Given the description of an element on the screen output the (x, y) to click on. 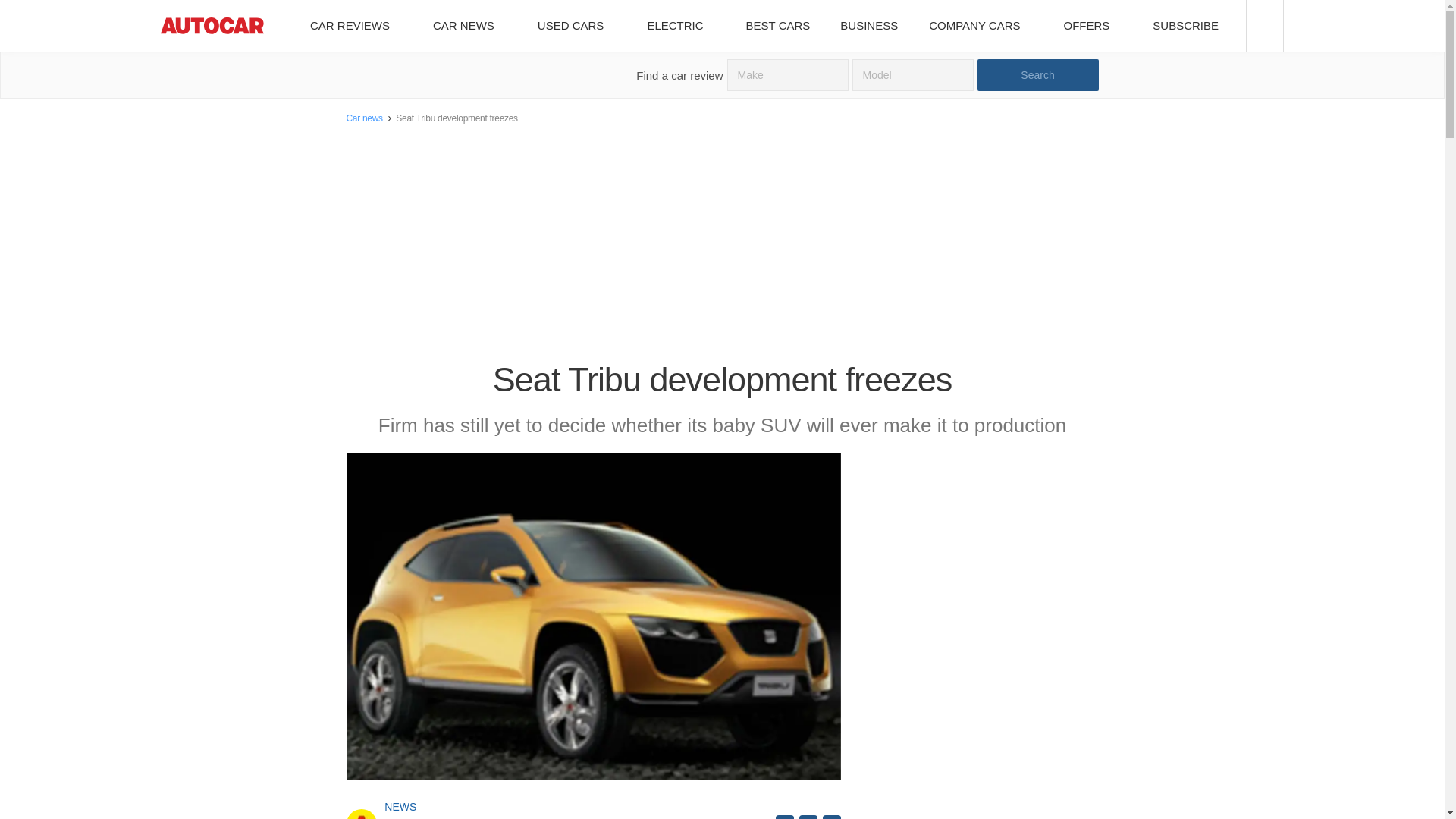
CAR REVIEWS (355, 26)
SUBSCRIBE (1191, 26)
Home (211, 25)
BUSINESS (868, 26)
Autocar Business news, insight and opinion (868, 26)
Search (1036, 74)
ELECTRIC (680, 26)
BEST CARS (777, 26)
CAR NEWS (468, 26)
Top 10 cars by segment (777, 26)
